Given the description of an element on the screen output the (x, y) to click on. 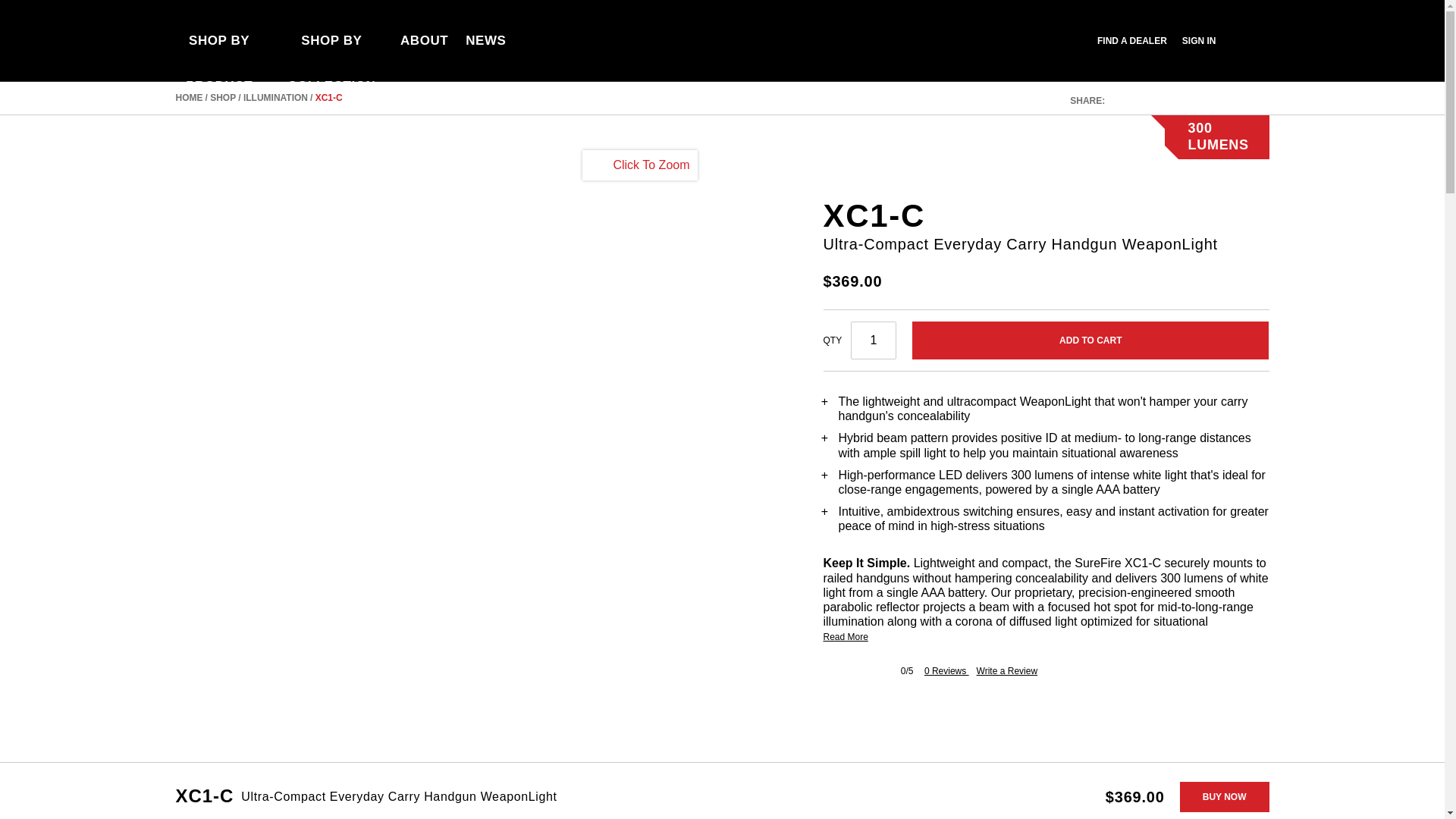
SHOP BY COLLECTION (340, 40)
1 (873, 340)
Open Product Submenu (269, 40)
Facebook (1133, 98)
Open Collection Submenu (390, 40)
SHOP BY PRODUCT (228, 40)
